Given the description of an element on the screen output the (x, y) to click on. 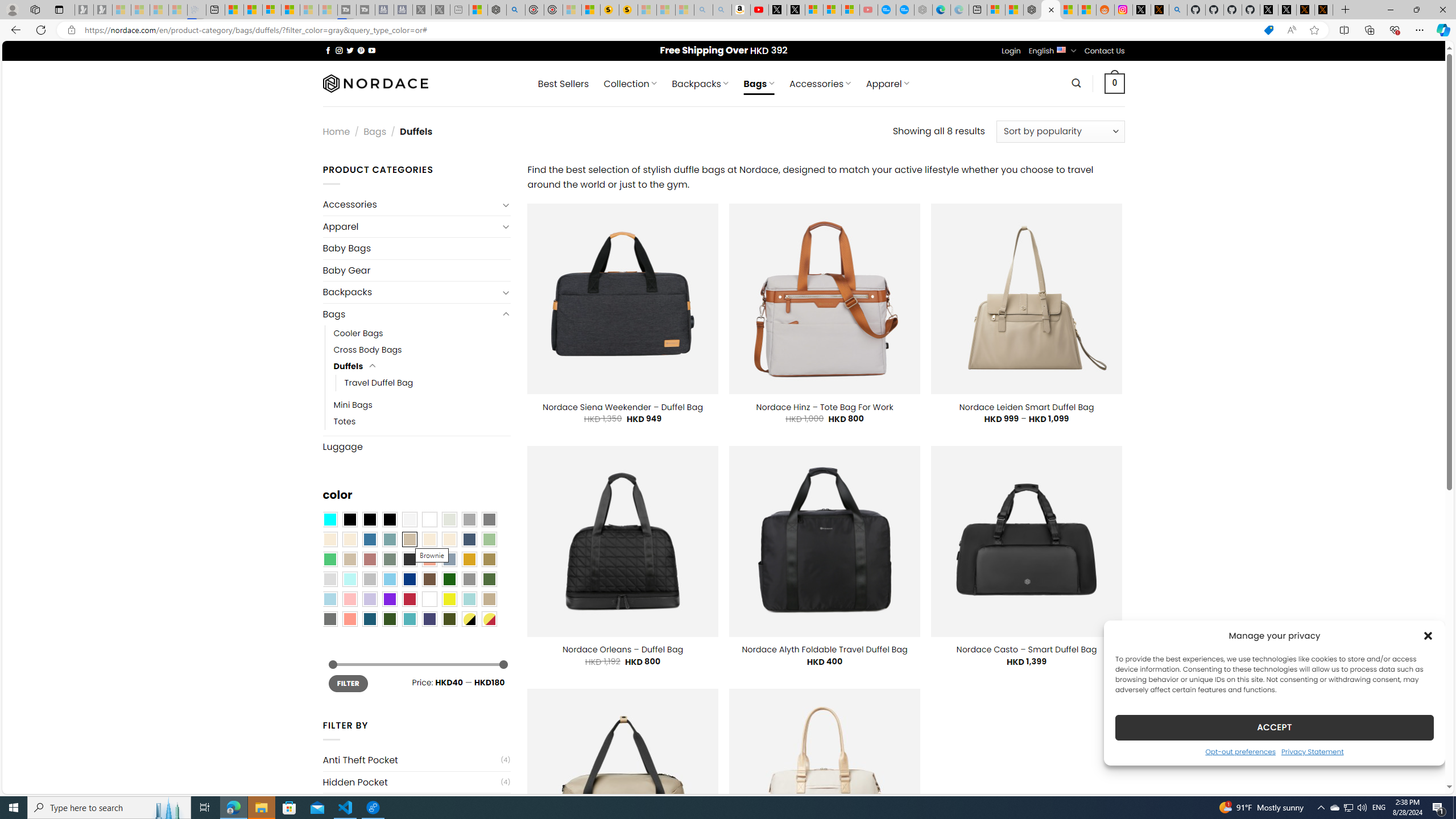
Microsoft account | Microsoft Account Privacy Settings (996, 9)
Sage (389, 559)
poe - Search (515, 9)
Beige (329, 539)
Baby Gear (416, 270)
Apparel (410, 226)
Pink (349, 599)
Follow on Facebook (327, 49)
All Gray (488, 519)
